Given the description of an element on the screen output the (x, y) to click on. 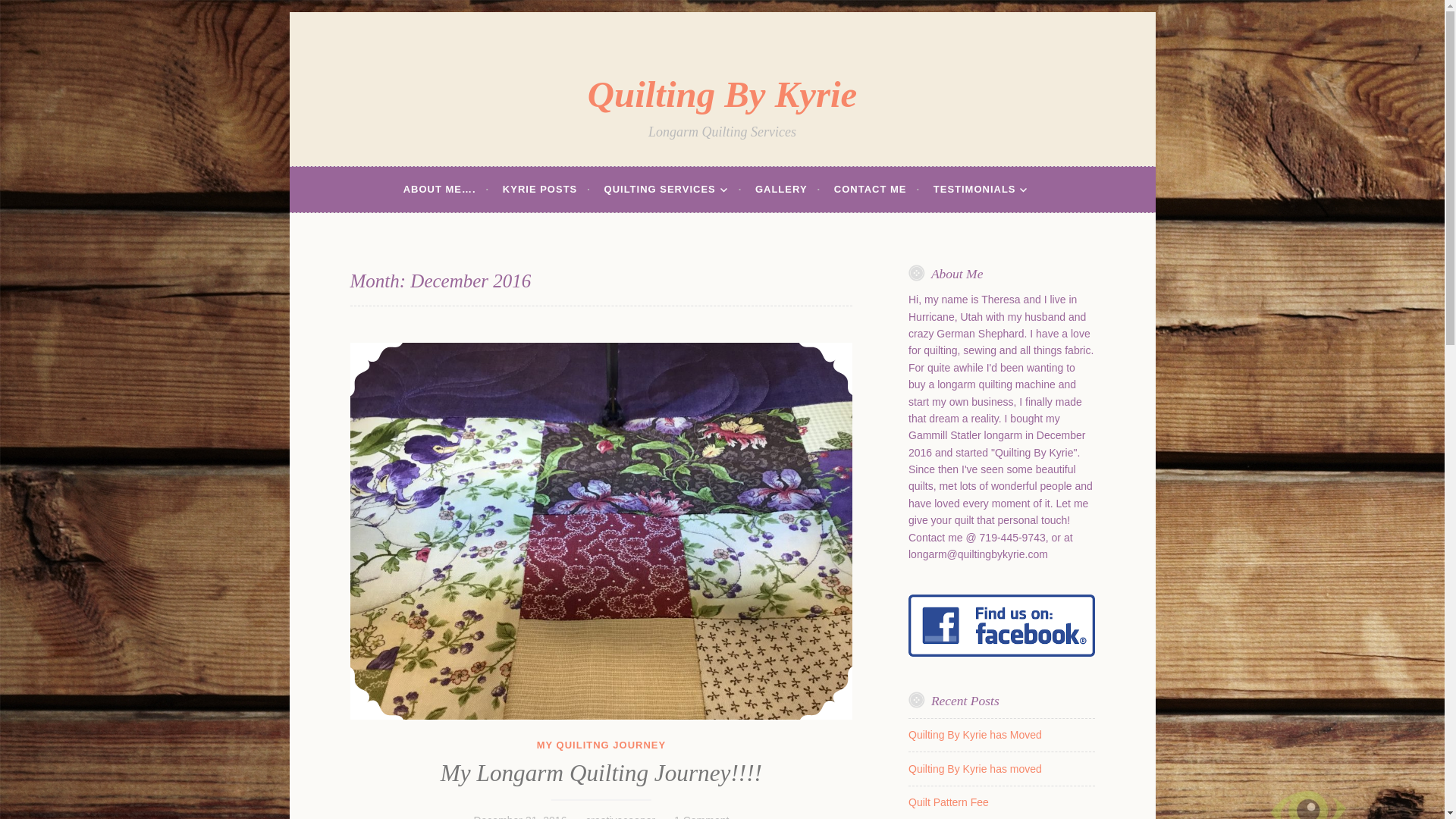
Quilting By Kyrie (722, 94)
December 31, 2016 (519, 816)
Quilt Pattern Fee (948, 802)
MY QUILITNG JOURNEY (601, 745)
GALLERY (788, 189)
Quilting By Kyrie has Moved (975, 734)
TESTIMONIALS (987, 189)
1 Comment (701, 816)
QUILTING SERVICES (673, 189)
My Longarm Quilting Journey!!!! (601, 773)
creativecooper (620, 816)
Quilting By Kyrie has moved (975, 768)
